Given the description of an element on the screen output the (x, y) to click on. 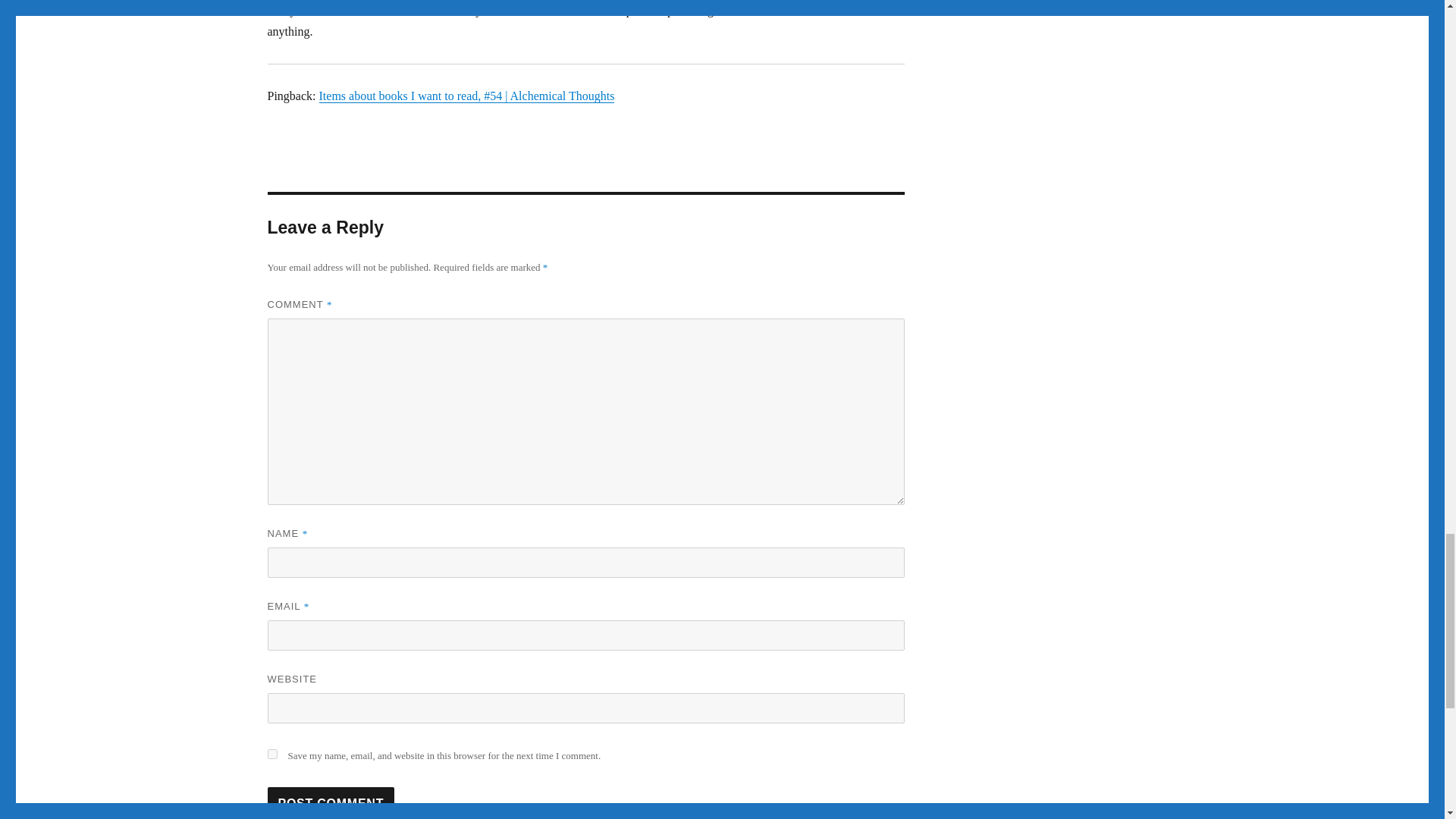
Post Comment (330, 803)
yes (271, 754)
Post Comment (330, 803)
